Given the description of an element on the screen output the (x, y) to click on. 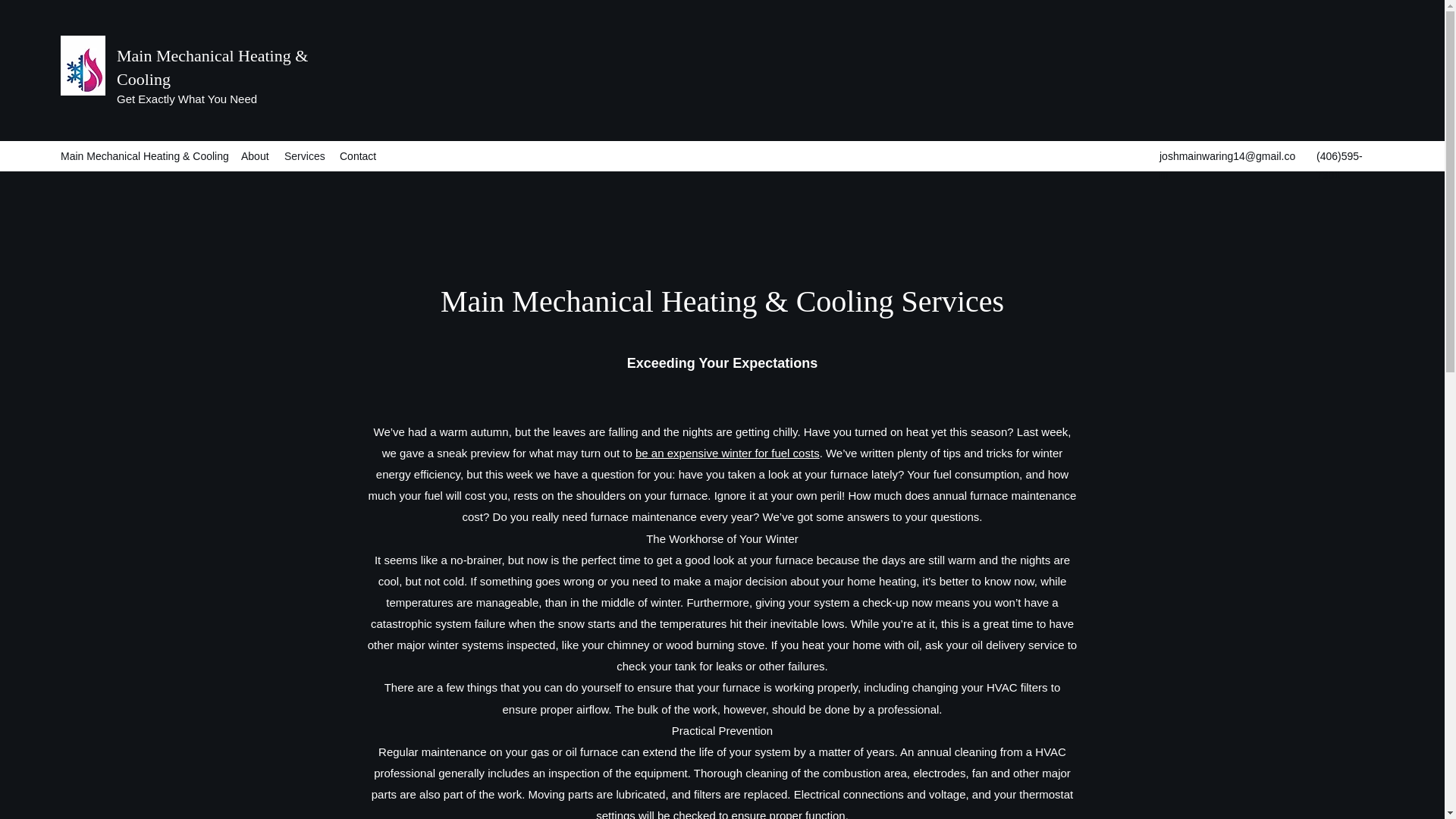
Services (303, 155)
Contact (356, 155)
About (254, 155)
be an expensive winter for fuel costs (726, 452)
